Given the description of an element on the screen output the (x, y) to click on. 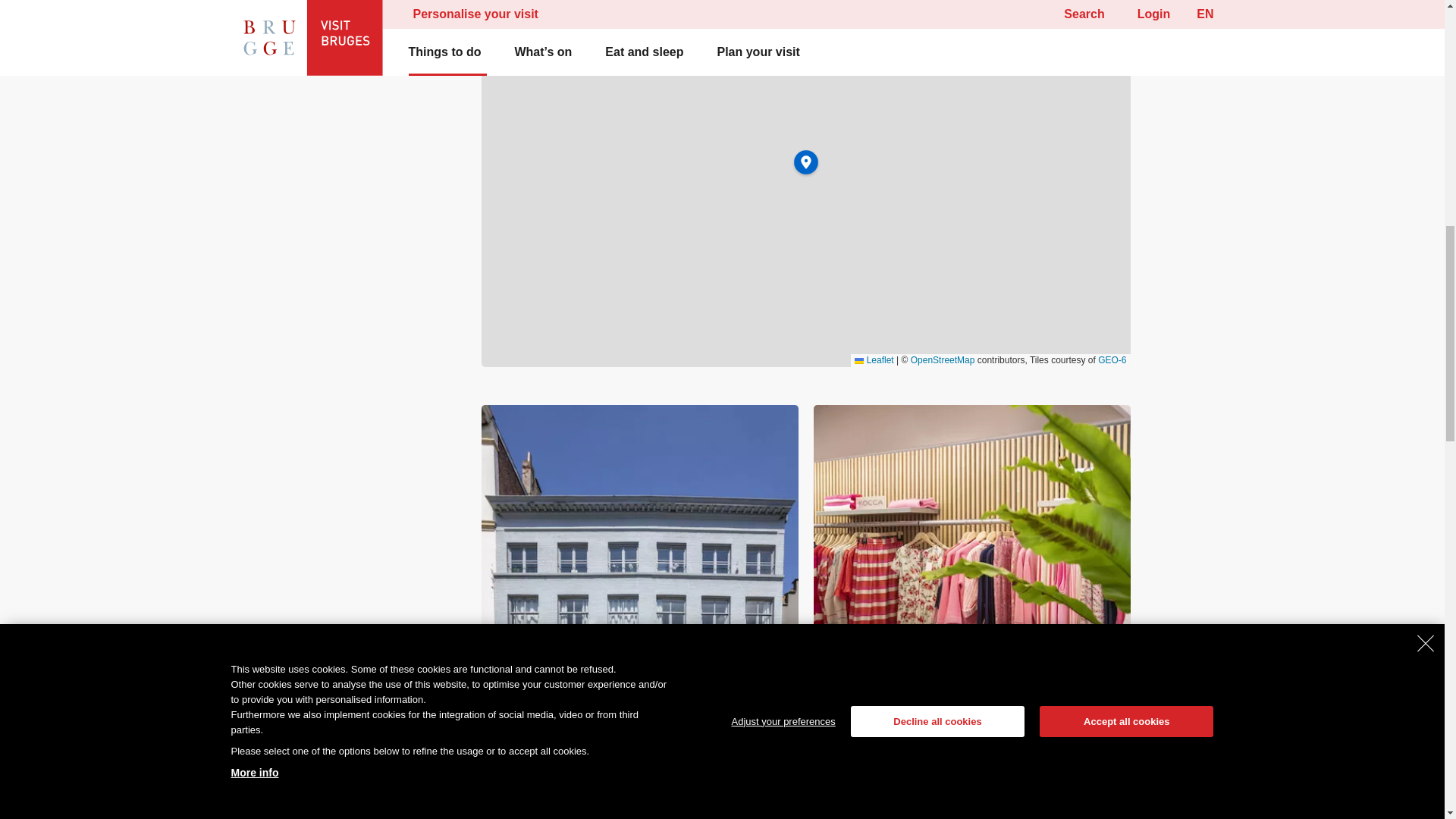
Zoom out (1109, 30)
Zoom in (1109, 9)
A JavaScript library for interactive maps (873, 359)
